Given the description of an element on the screen output the (x, y) to click on. 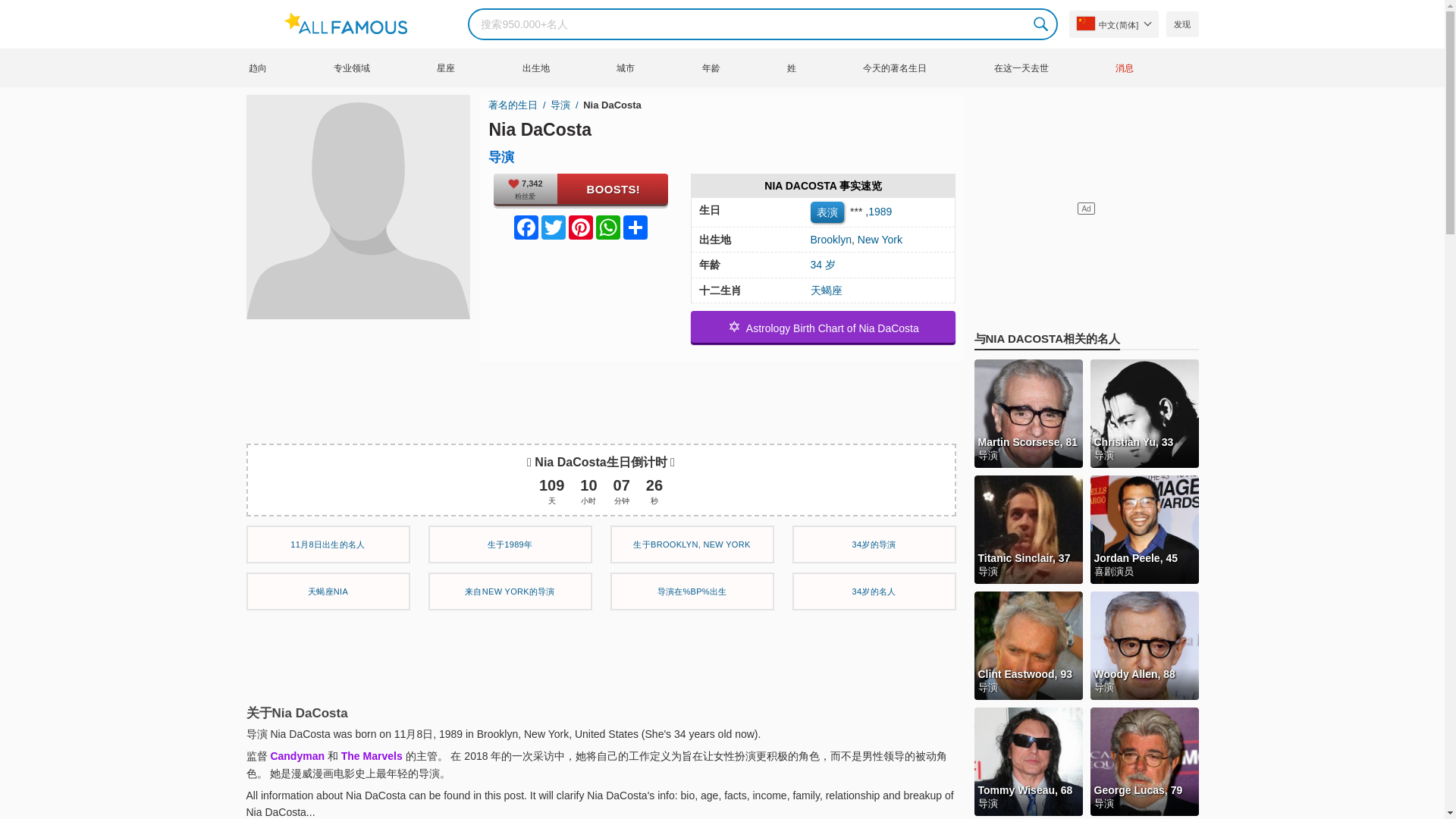
Advertisement (600, 395)
I love Nia DaCosta! (580, 188)
Advertisement (600, 653)
The Marvels Movie (371, 756)
Candyman Movie (296, 756)
AllFamous.org (353, 23)
SEARCH (1042, 24)
